Given the description of an element on the screen output the (x, y) to click on. 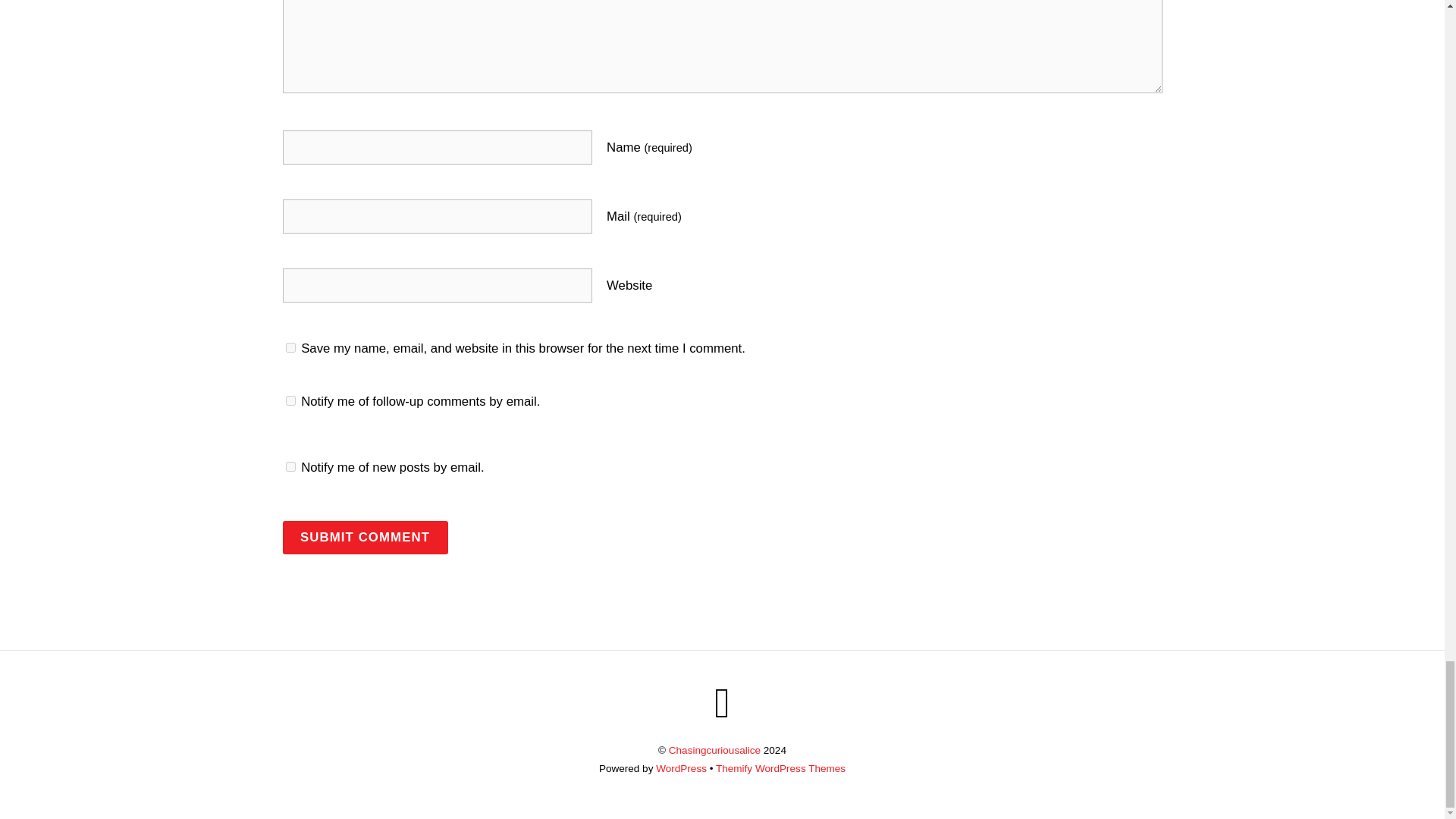
Themify WordPress Themes (780, 767)
subscribe (290, 400)
Submit Comment (364, 537)
Submit Comment (364, 537)
WordPress (681, 767)
Chasingcuriousalice (714, 749)
subscribe (290, 466)
yes (290, 347)
